Given the description of an element on the screen output the (x, y) to click on. 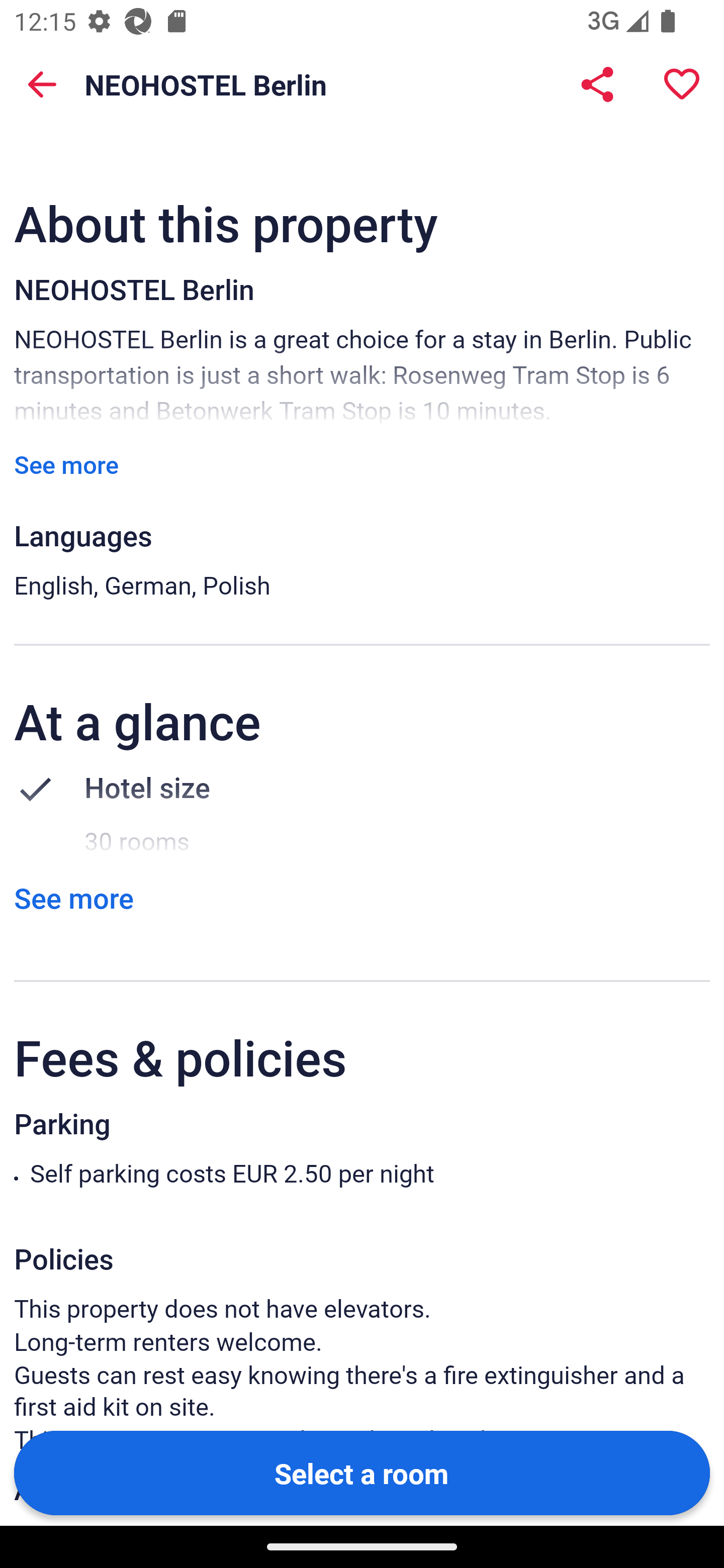
Example: Is breakfast free? (308, 66)
Back (42, 84)
Save property to a trip (681, 84)
Share NEOHOSTEL Berlin (597, 84)
See more See more Link (65, 463)
See more See more Link (73, 897)
Select a room Button Select a room (361, 1472)
